Given the description of an element on the screen output the (x, y) to click on. 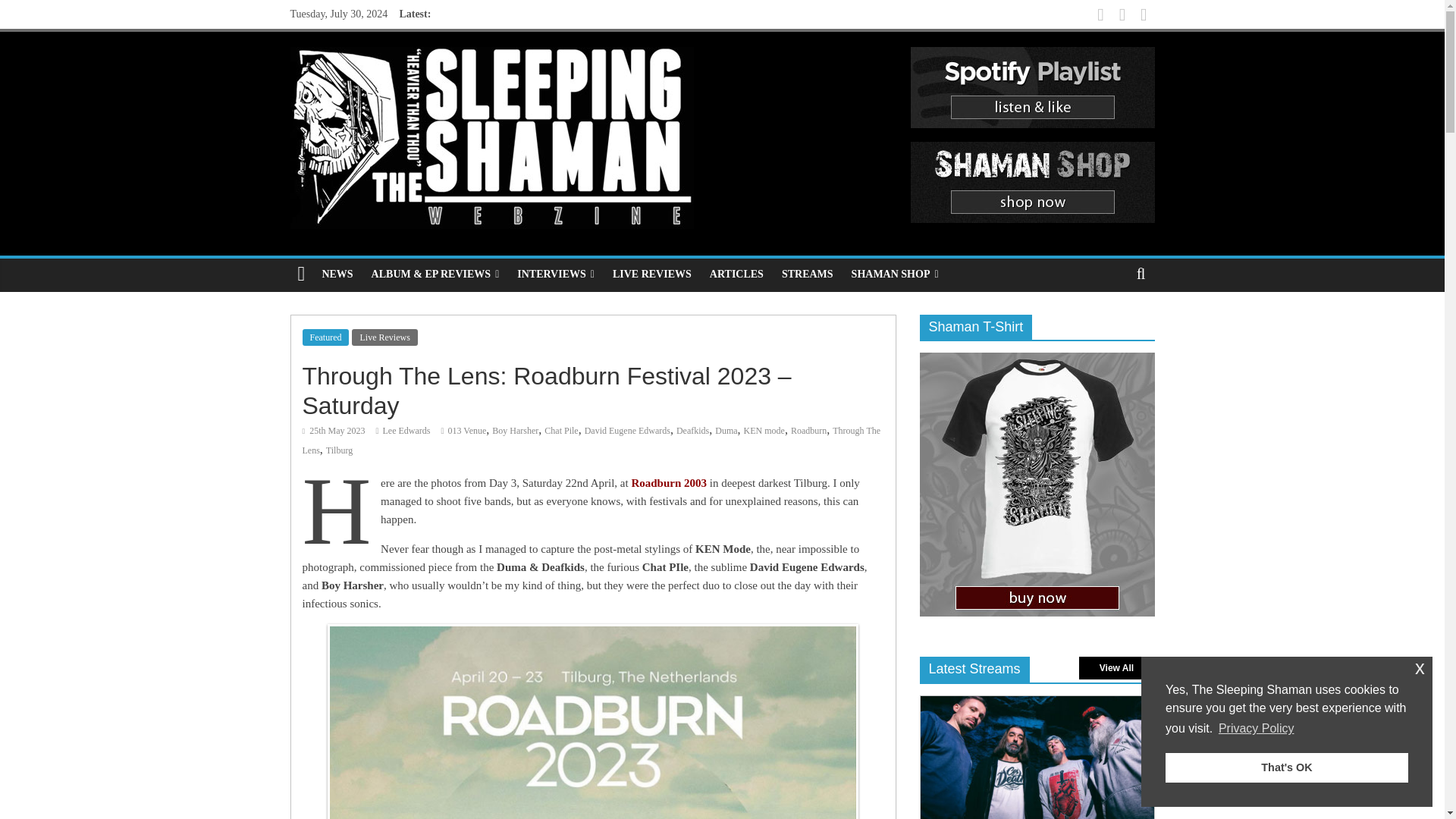
Lee Edwards (406, 430)
1:00 pm (333, 430)
NEWS (337, 274)
